Given the description of an element on the screen output the (x, y) to click on. 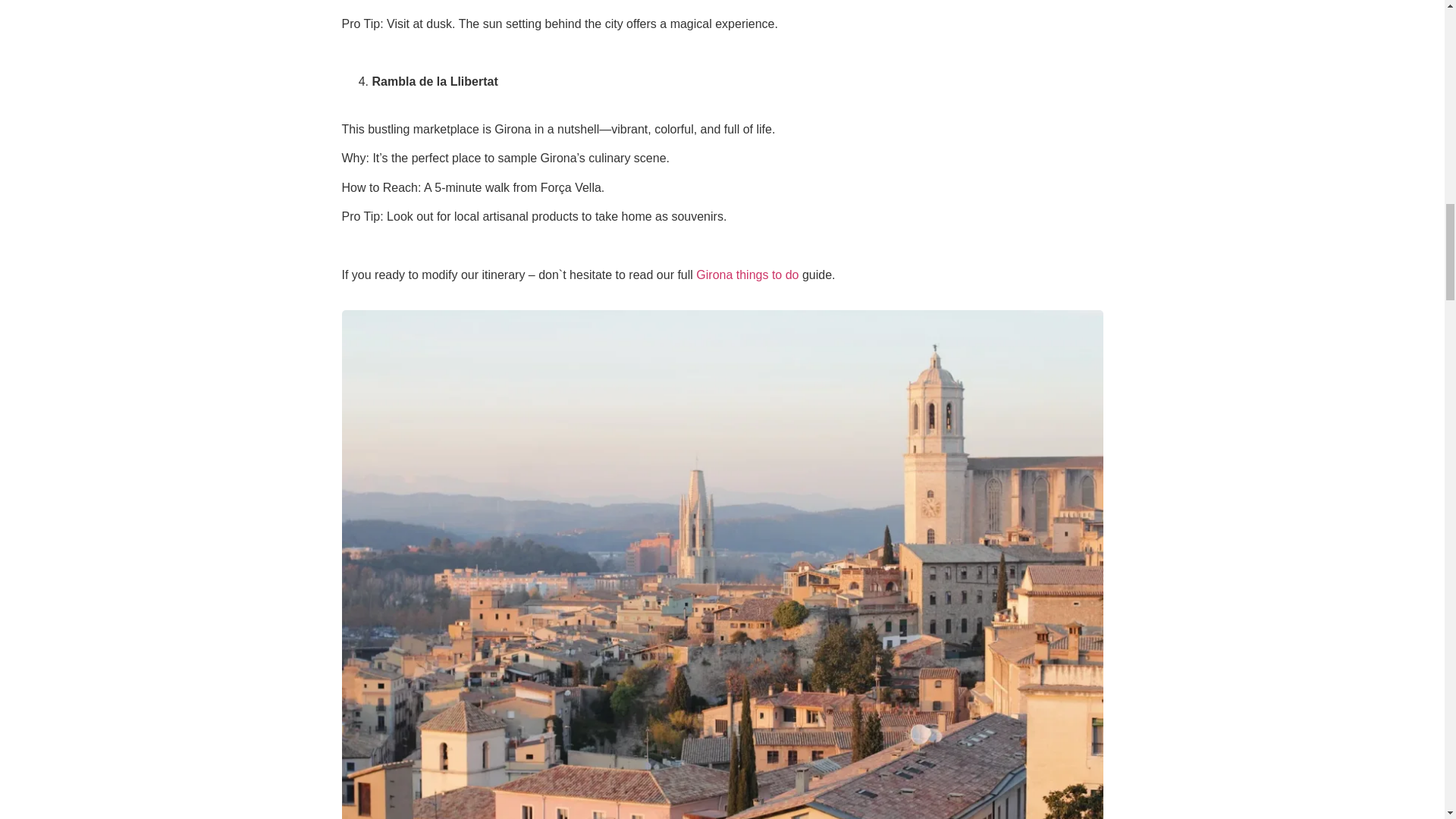
Girona things to do (746, 274)
